Given the description of an element on the screen output the (x, y) to click on. 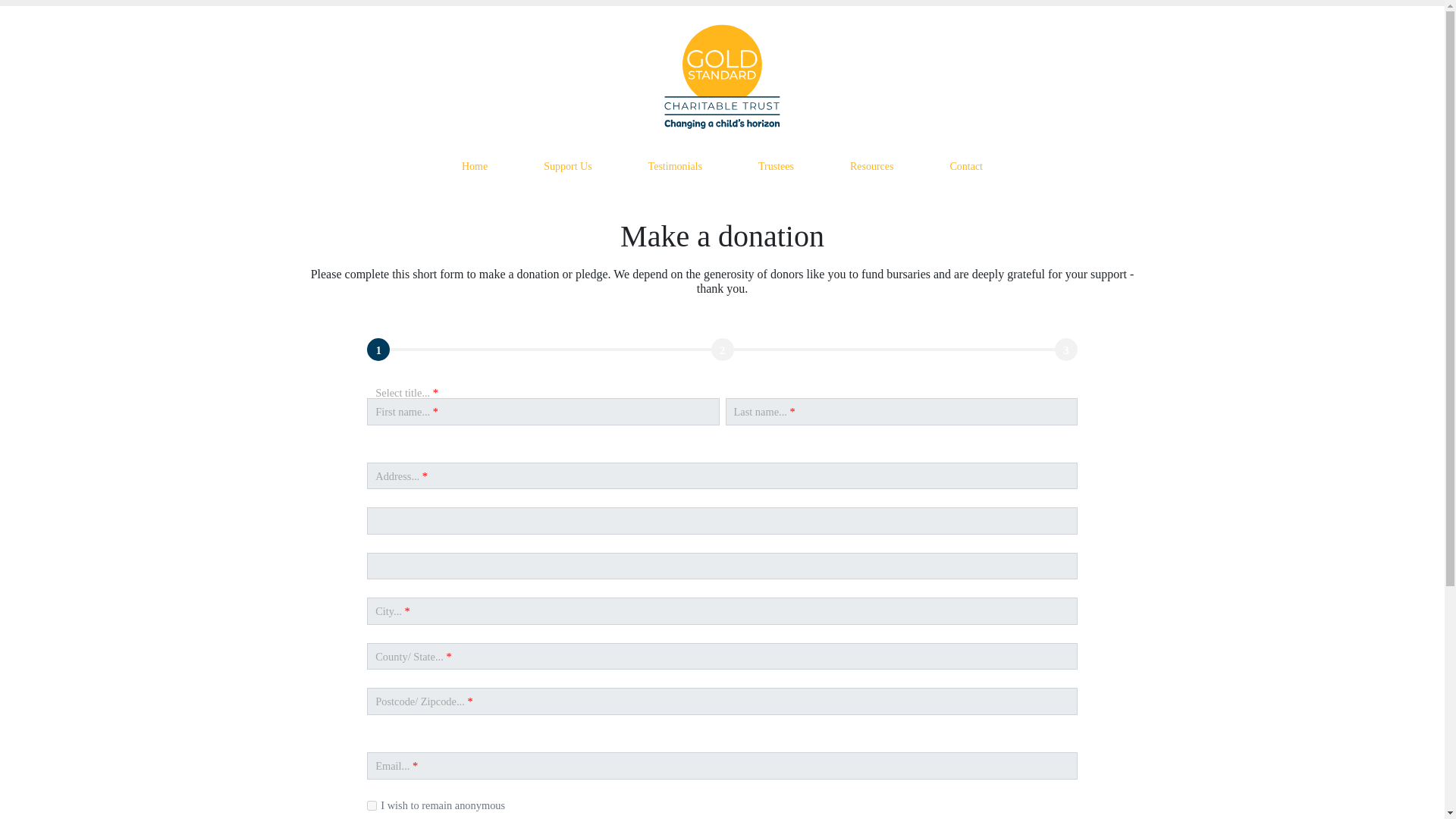
Contact (965, 165)
1 (371, 805)
Home (474, 165)
Resources (871, 165)
Testimonials (674, 165)
Support Us (567, 165)
Trustees (775, 165)
